Given the description of an element on the screen output the (x, y) to click on. 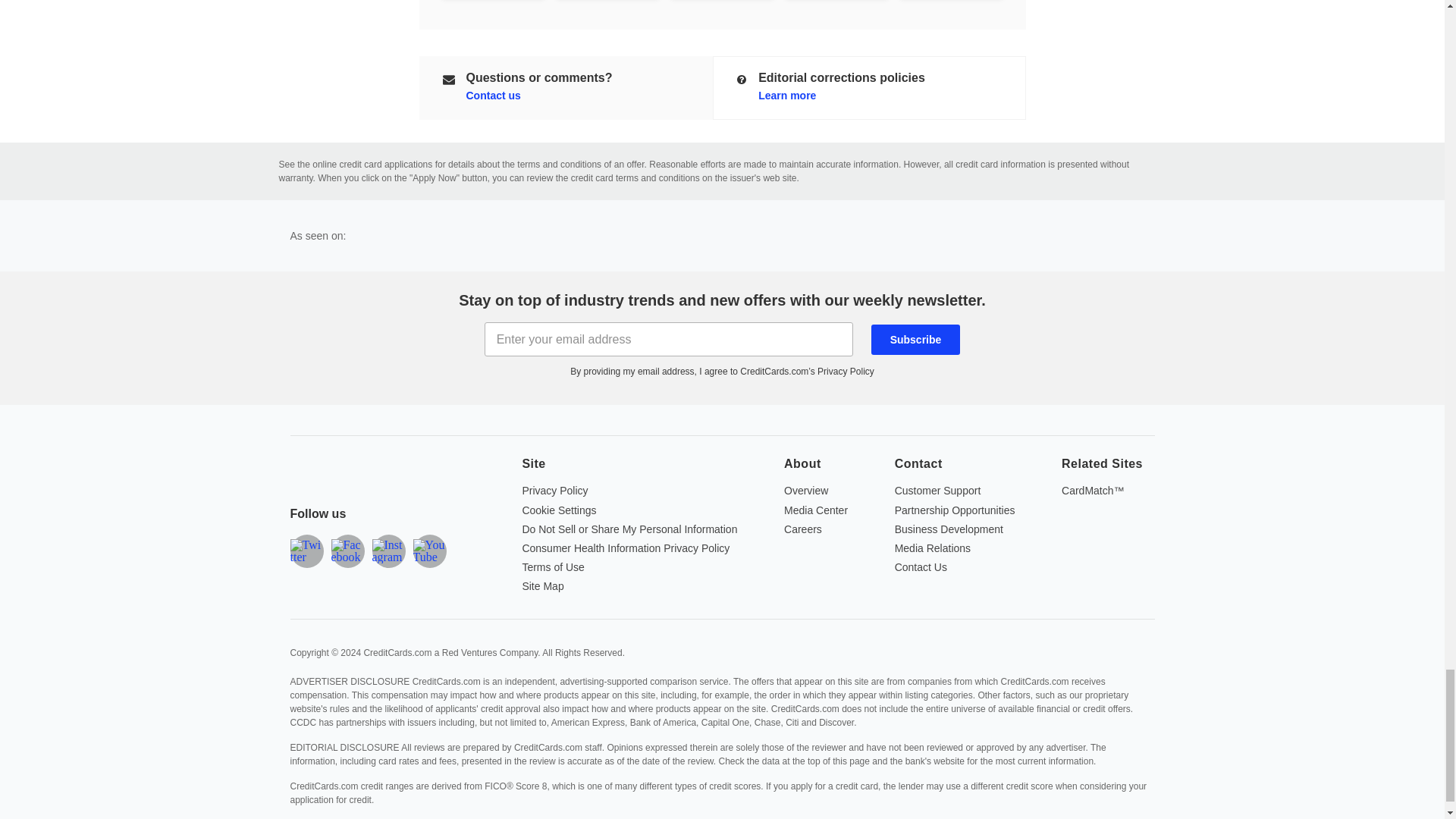
Facebook (347, 551)
Twitter (306, 551)
YouTube (428, 551)
Instagram (387, 551)
